Given the description of an element on the screen output the (x, y) to click on. 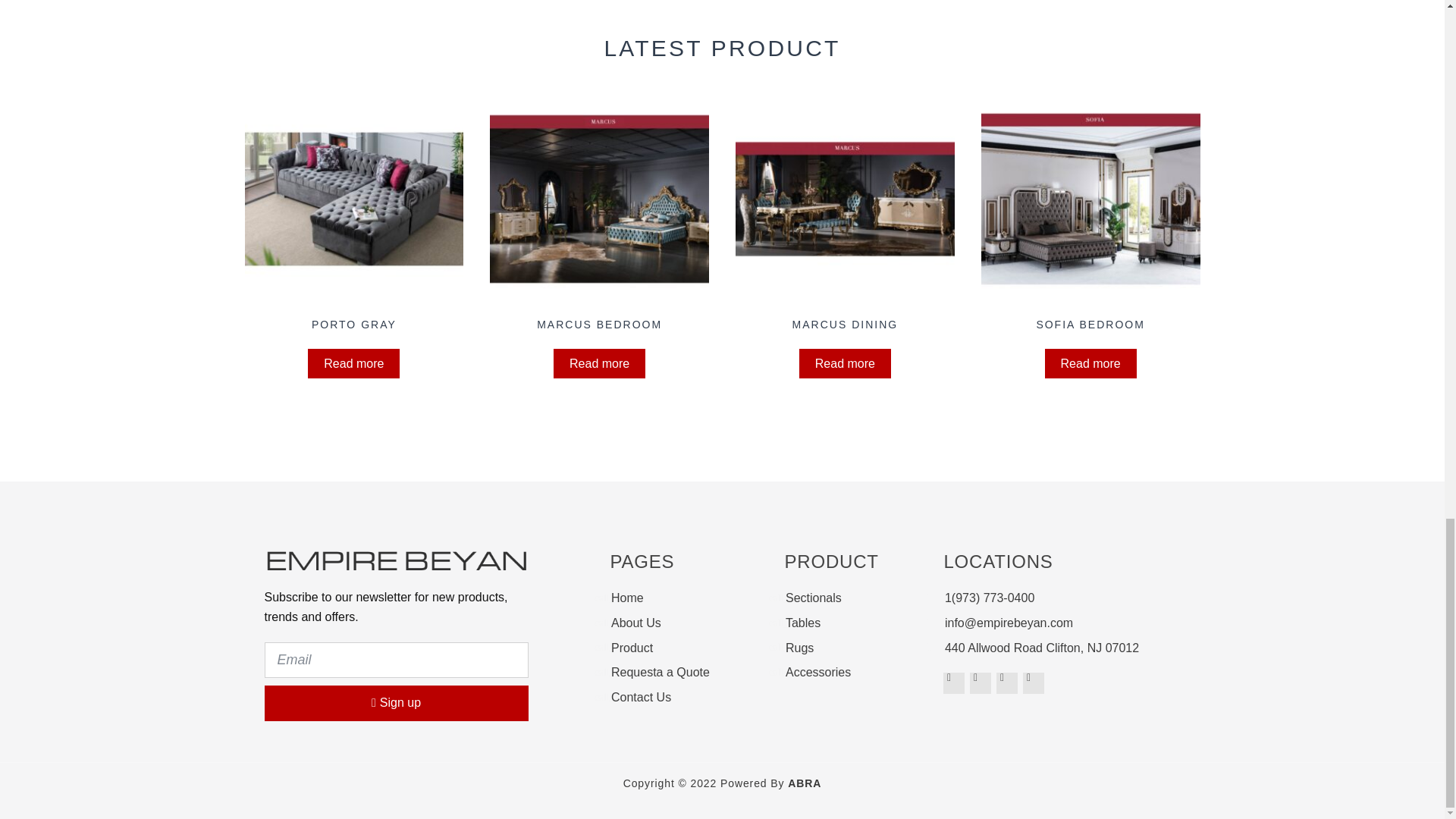
Read more (352, 363)
MARCUS BEDROOM (599, 212)
MARCUS DINING (845, 212)
PORTO GRAY (353, 212)
Read more (599, 363)
